Given the description of an element on the screen output the (x, y) to click on. 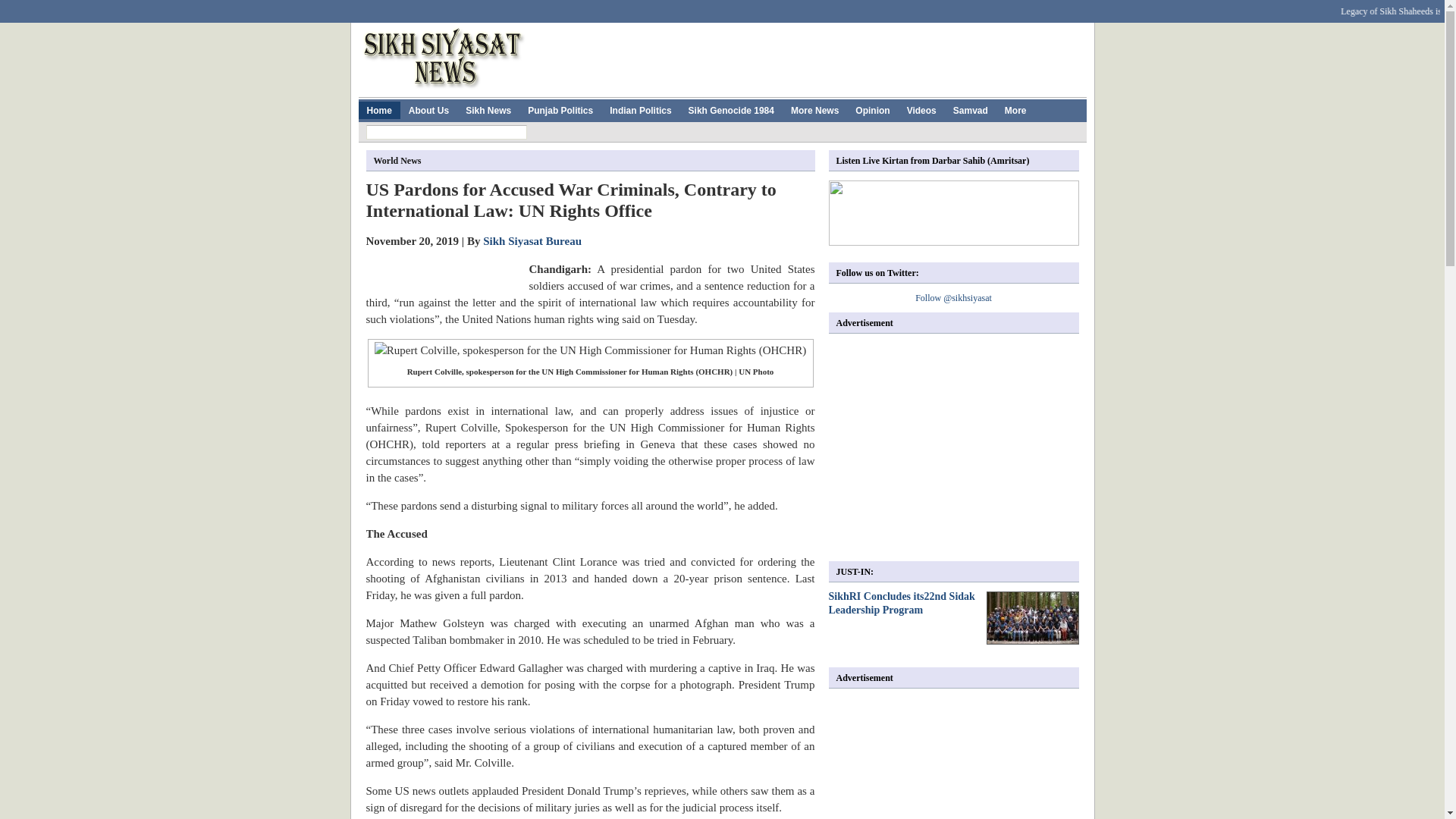
More (1015, 109)
Sikh News (488, 109)
Subscribe to our RSS feed (1046, 6)
Samvad (969, 109)
Home (378, 109)
Videos (921, 109)
About Us (428, 109)
More News (815, 109)
Subscribe to our RSS feed (1046, 6)
Twitter (502, 6)
